Given the description of an element on the screen output the (x, y) to click on. 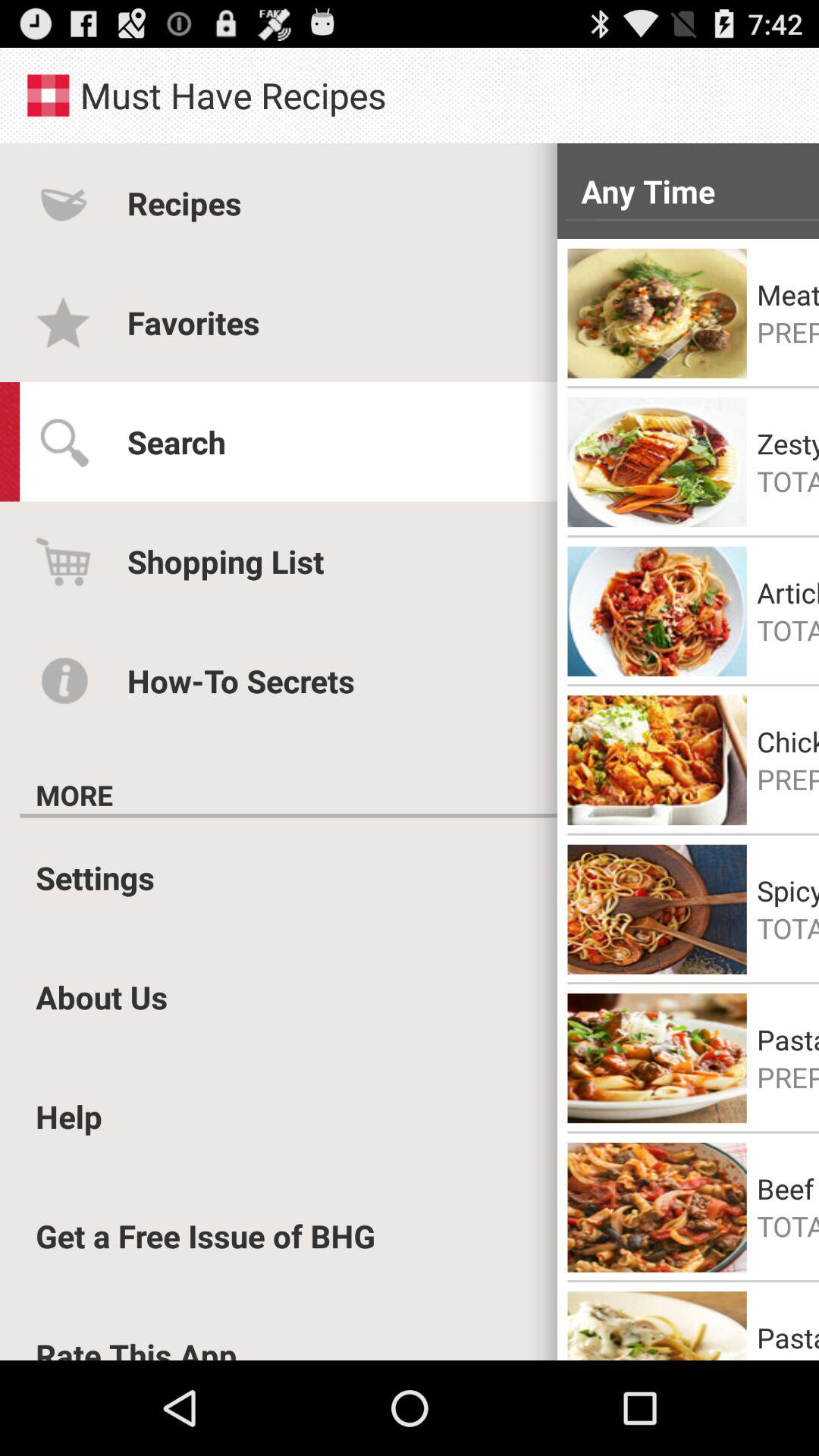
jump until the more app (74, 794)
